Given the description of an element on the screen output the (x, y) to click on. 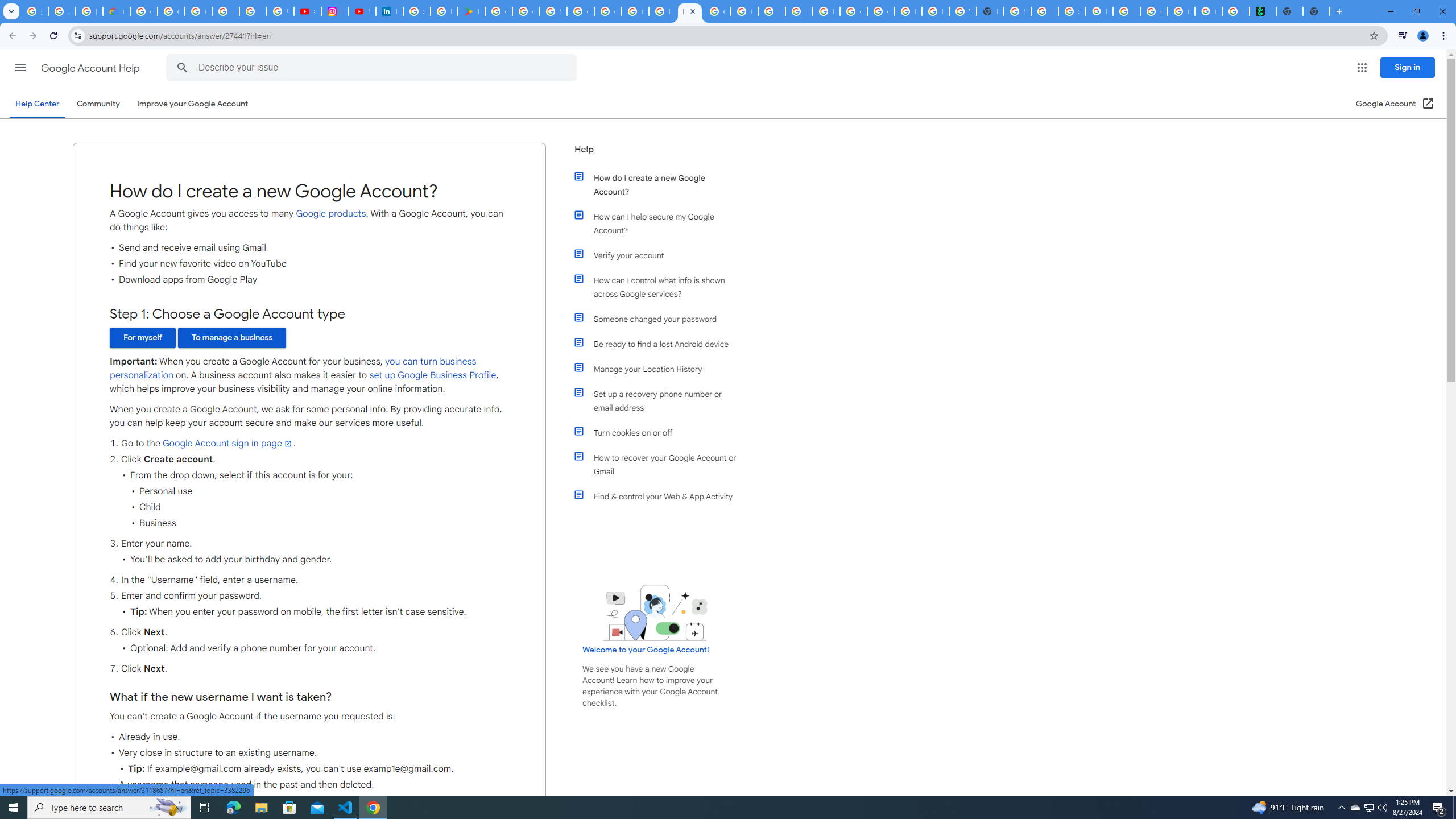
Find & control your Web & App Activity (661, 496)
Turn cookies on or off (661, 432)
set up Google Business Profile (432, 374)
How do I create a new Google Account? (661, 184)
Last Shelter: Survival - Apps on Google Play (471, 11)
#nbabasketballhighlights - YouTube (307, 11)
